Given the description of an element on the screen output the (x, y) to click on. 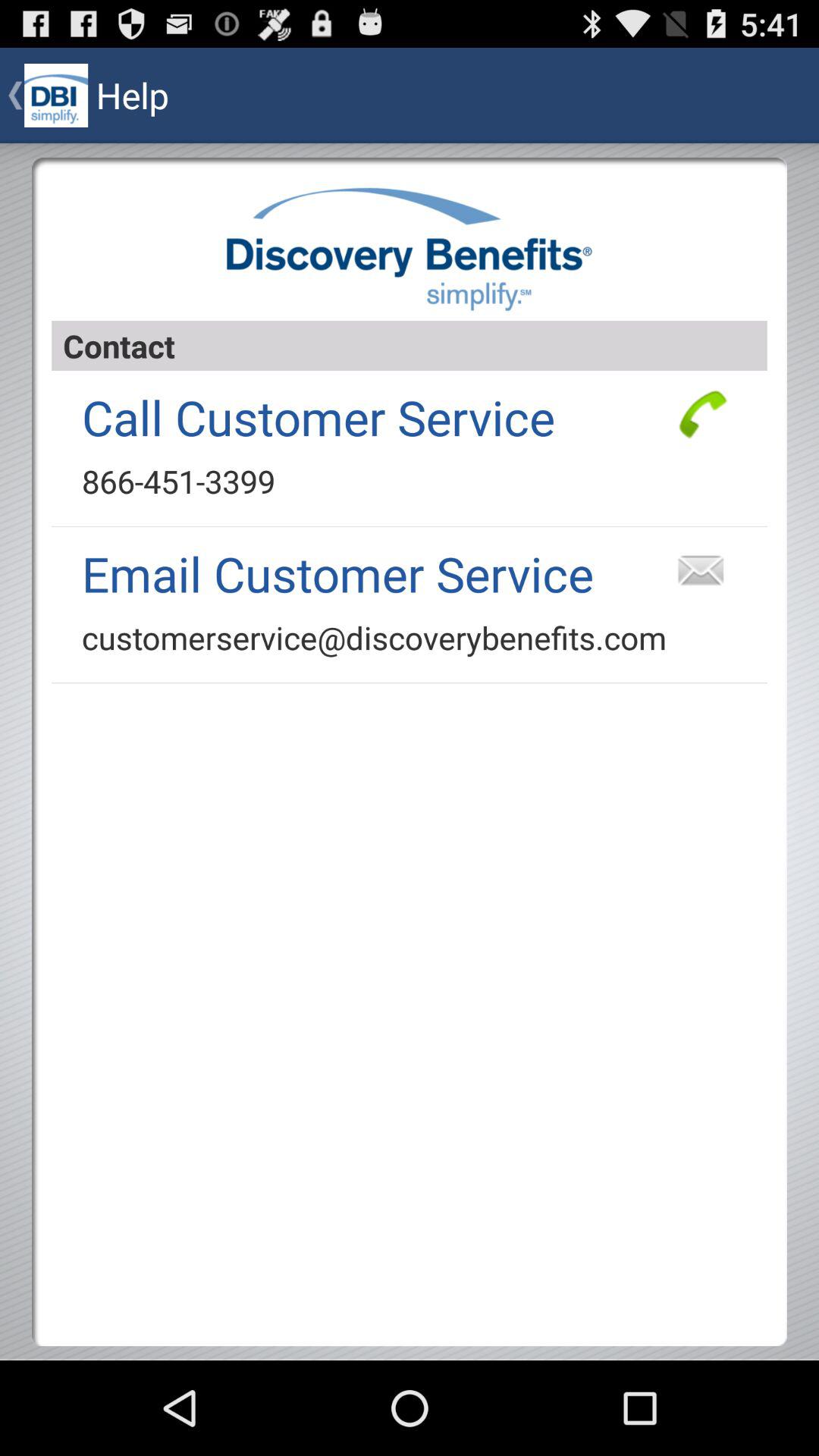
select the item above contact item (409, 248)
